Given the description of an element on the screen output the (x, y) to click on. 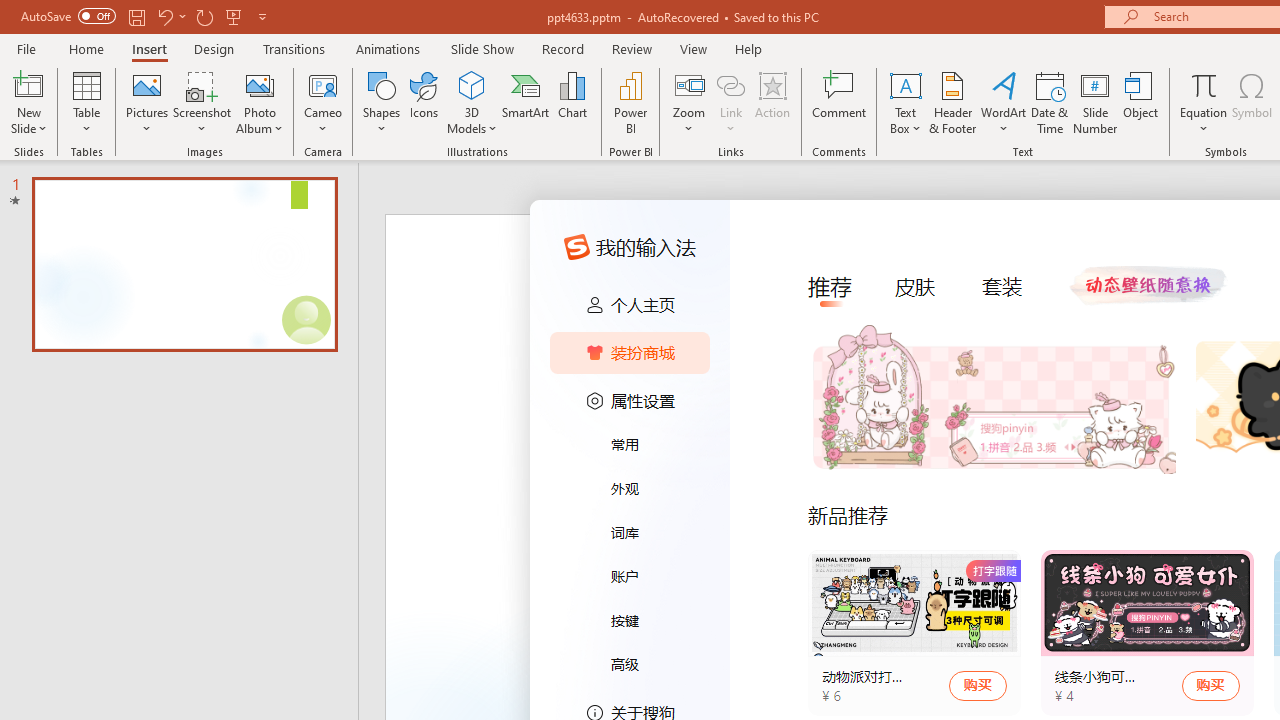
Draw Horizontal Text Box (905, 84)
Photo Album... (259, 102)
Link (731, 102)
3D Models (472, 84)
